Given the description of an element on the screen output the (x, y) to click on. 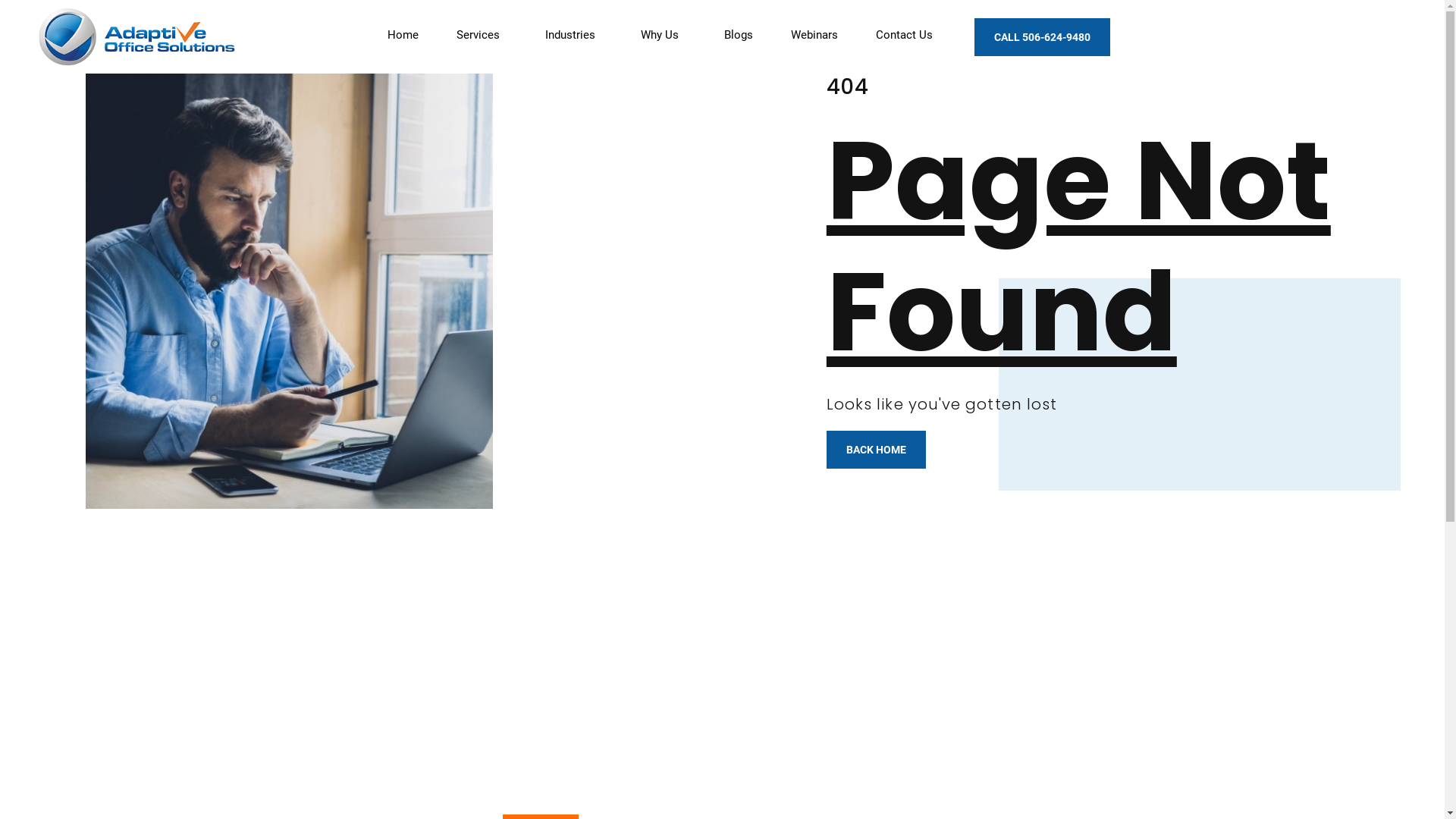
Blogs Element type: text (738, 34)
CALL 506-624-9480 Element type: text (1042, 37)
Contact Us Element type: text (904, 34)
Industries Element type: text (573, 34)
Why Us Element type: text (663, 34)
BACK HOME Element type: text (875, 449)
Webinars Element type: text (814, 34)
Services Element type: text (481, 34)
Home Element type: text (402, 34)
